Given the description of an element on the screen output the (x, y) to click on. 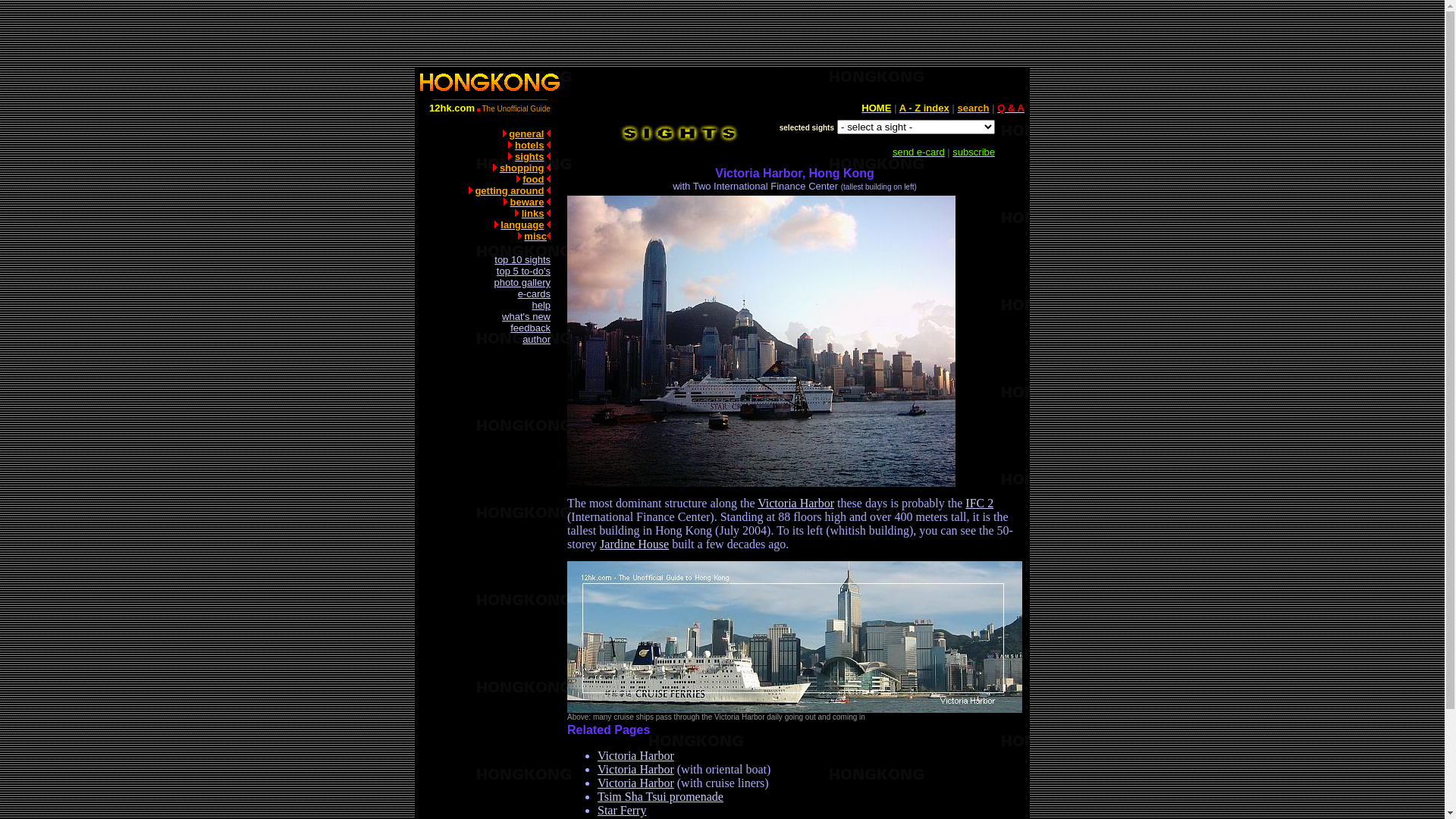
Victoria Harbor Element type: text (635, 768)
help Element type: text (540, 304)
language Element type: text (521, 224)
Jardine House Element type: text (633, 543)
e-cards Element type: text (533, 293)
sights Element type: text (528, 156)
beware Element type: text (527, 201)
general Element type: text (525, 133)
author Element type: text (536, 339)
what's new Element type: text (526, 316)
Star Ferry Element type: text (621, 809)
Victoria Harbor Element type: text (795, 502)
top 10 sights Element type: text (522, 259)
Advertisement Element type: hover (489, 585)
Q & A Element type: text (1010, 107)
IFC 2 Element type: text (979, 502)
send e-card Element type: text (918, 151)
shopping Element type: text (521, 167)
food Element type: text (532, 179)
Victoria Harbor Element type: text (635, 782)
A - Z index Element type: text (924, 107)
hotels Element type: text (528, 144)
subscribe Element type: text (973, 151)
Advertisement Element type: hover (721, 34)
Tsim Sha Tsui promenade Element type: text (660, 796)
Victoria Harbor Element type: text (635, 755)
getting around Element type: text (508, 190)
photo gallery Element type: text (522, 282)
links Element type: text (532, 213)
top 5 to-do's Element type: text (523, 270)
feedback Element type: text (530, 327)
search Element type: text (973, 107)
HOME Element type: text (876, 107)
misc Element type: text (535, 235)
